Given the description of an element on the screen output the (x, y) to click on. 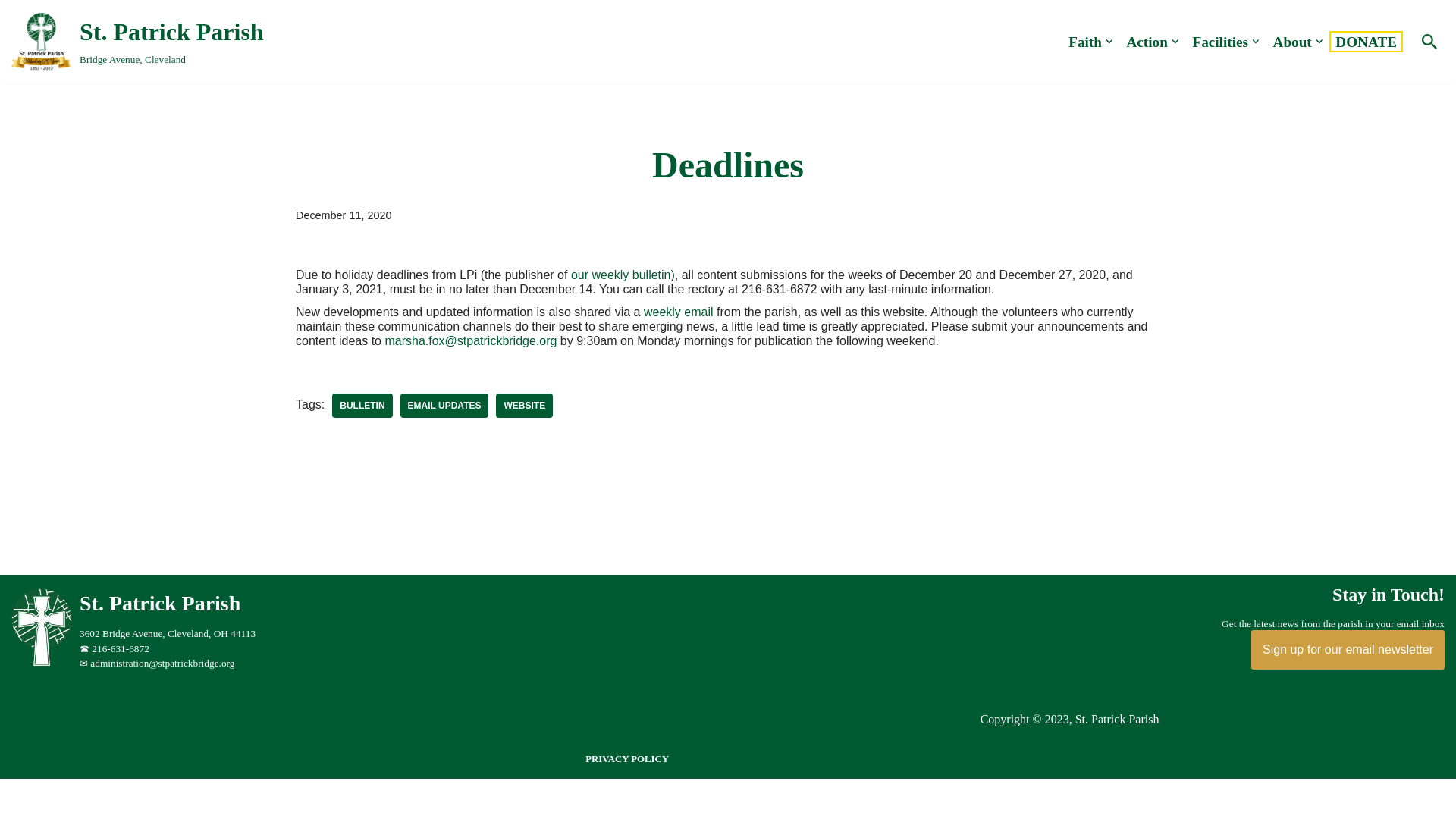
Action (1146, 41)
website (137, 41)
St. Patrick Parish (524, 405)
About (45, 662)
email updates (1291, 41)
Faith (444, 405)
DONATE (1085, 41)
Facilities (1365, 41)
bulletin (1219, 41)
